Given the description of an element on the screen output the (x, y) to click on. 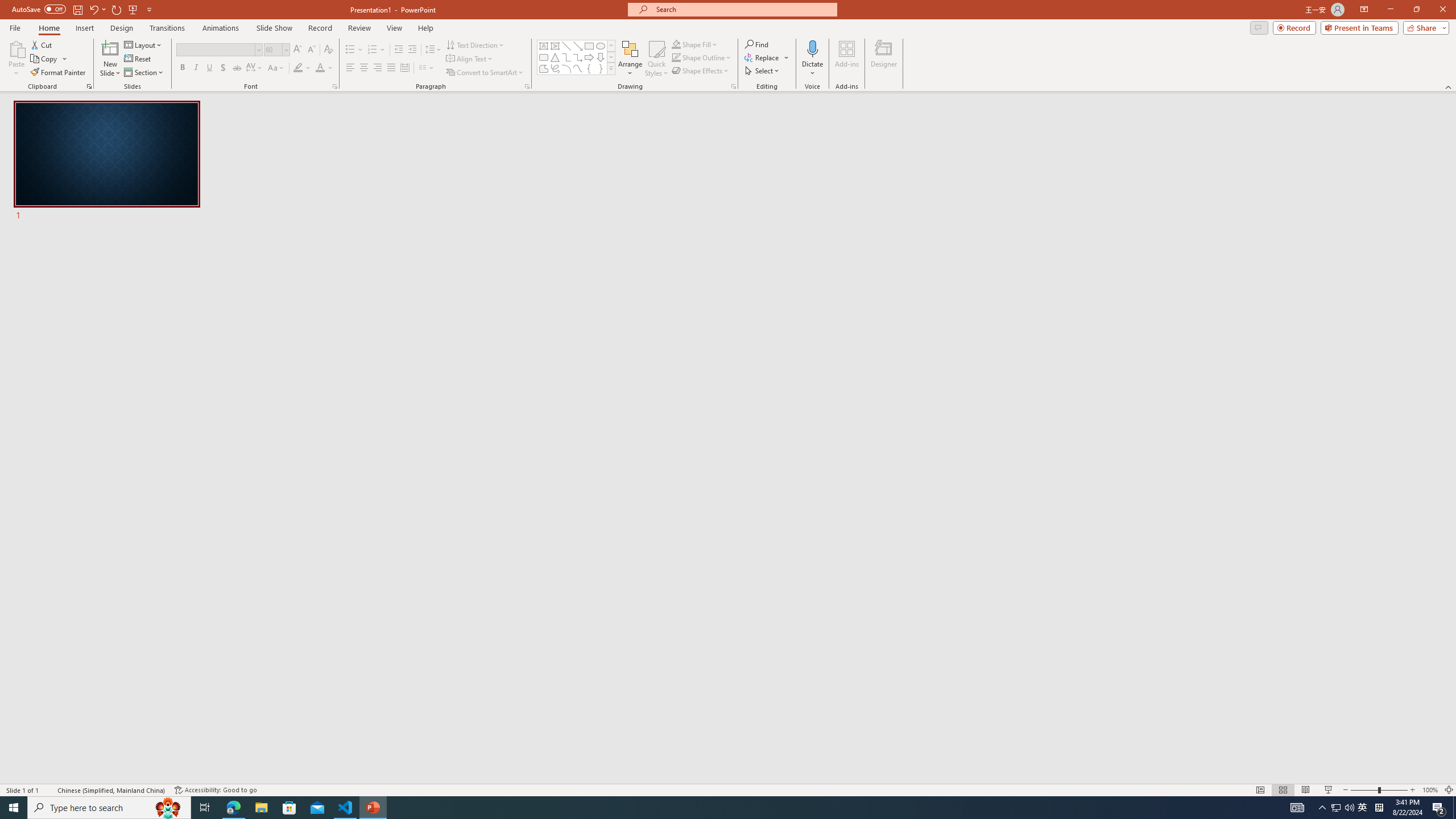
Arc (566, 68)
Connector: Elbow (566, 57)
Shape Outline (701, 56)
Find... (756, 44)
Row up (611, 45)
Copy (49, 58)
Isosceles Triangle (554, 57)
Row Down (611, 56)
